Given the description of an element on the screen output the (x, y) to click on. 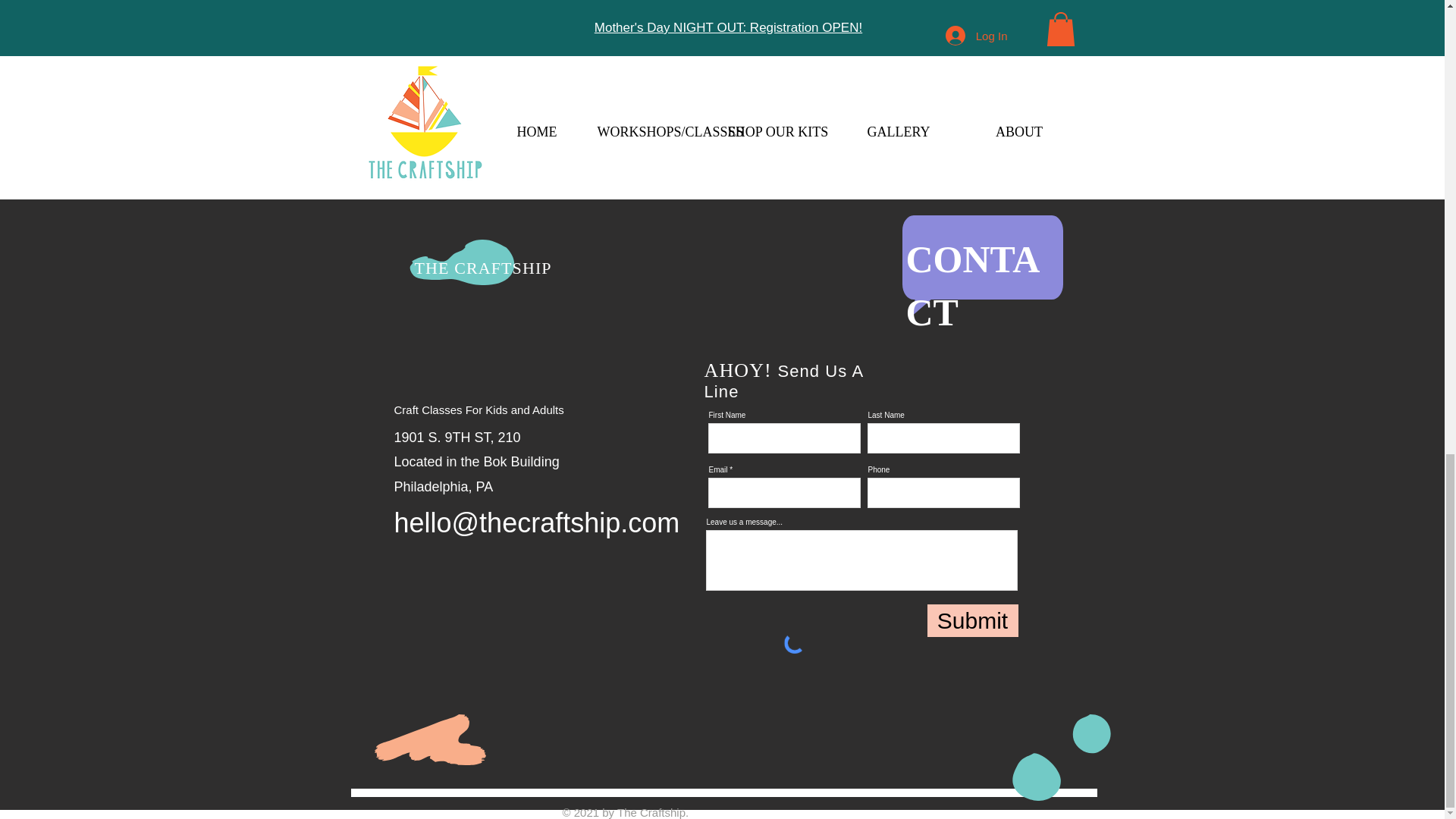
THE CRAFTSHIP (482, 267)
AHOY! Send Us A Line (783, 381)
Submit (971, 620)
